Given the description of an element on the screen output the (x, y) to click on. 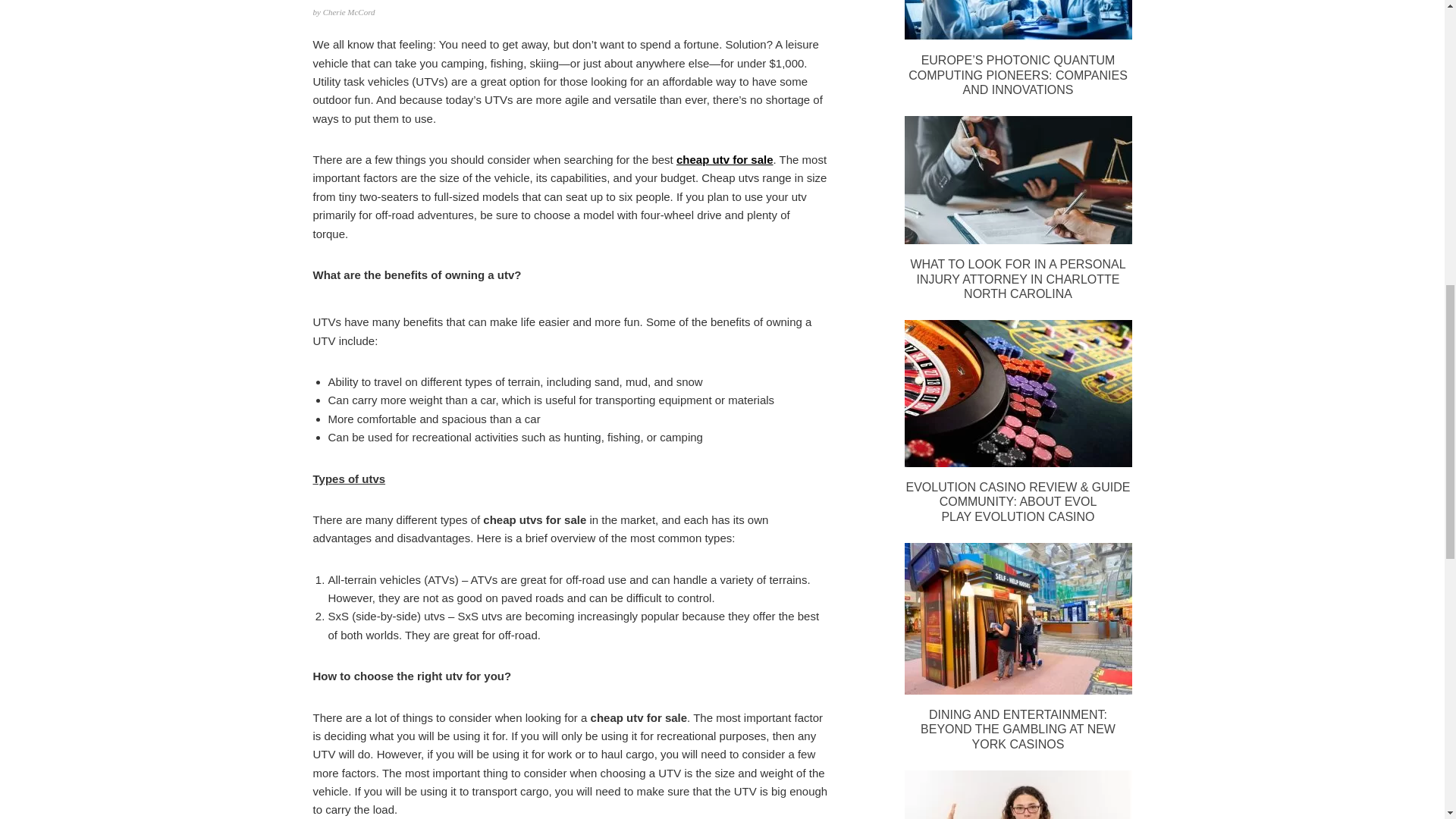
cheap utv for sale (725, 159)
Cherie McCord (349, 11)
